Given the description of an element on the screen output the (x, y) to click on. 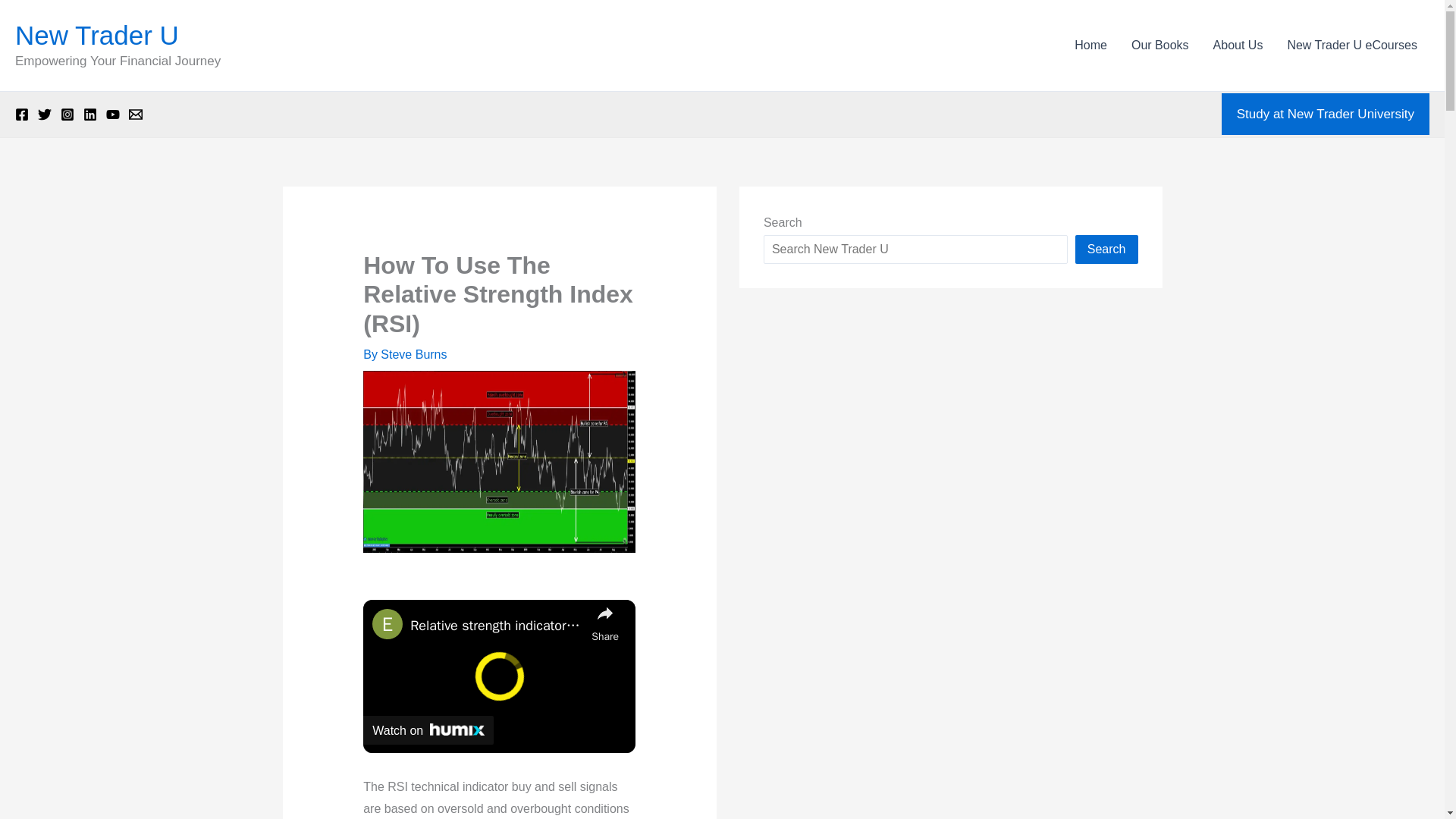
Steve Burns (413, 354)
Relative strength indicator in economics and finance (496, 625)
Study at New Trader University (1325, 114)
Our Books (1160, 45)
New Trader U eCourses (1352, 45)
View all posts by Steve Burns (413, 354)
Watch on (427, 729)
Home (1090, 45)
New Trader U (96, 34)
Search (1106, 249)
About Us (1238, 45)
